Given the description of an element on the screen output the (x, y) to click on. 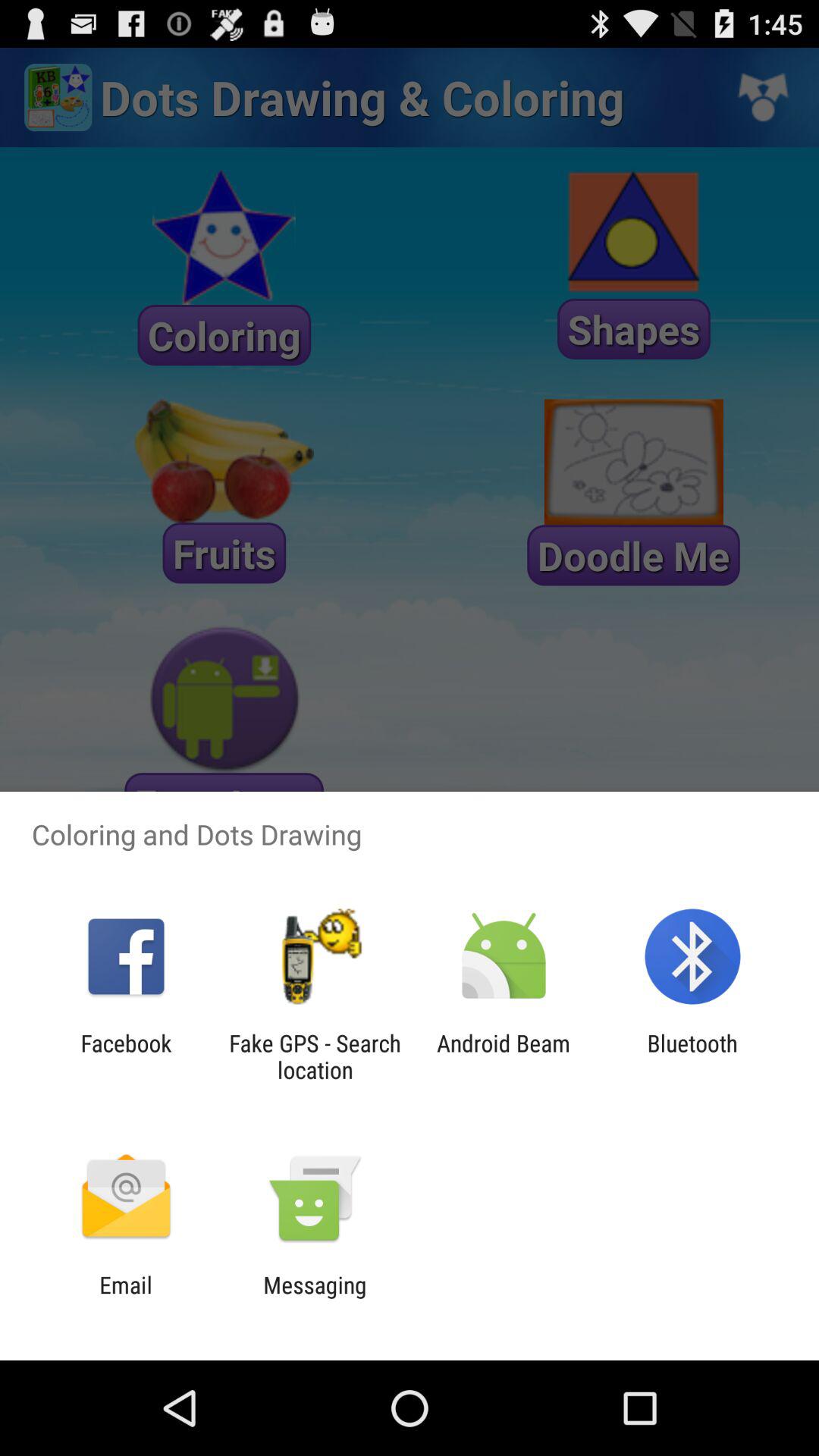
flip to the fake gps search (314, 1056)
